Given the description of an element on the screen output the (x, y) to click on. 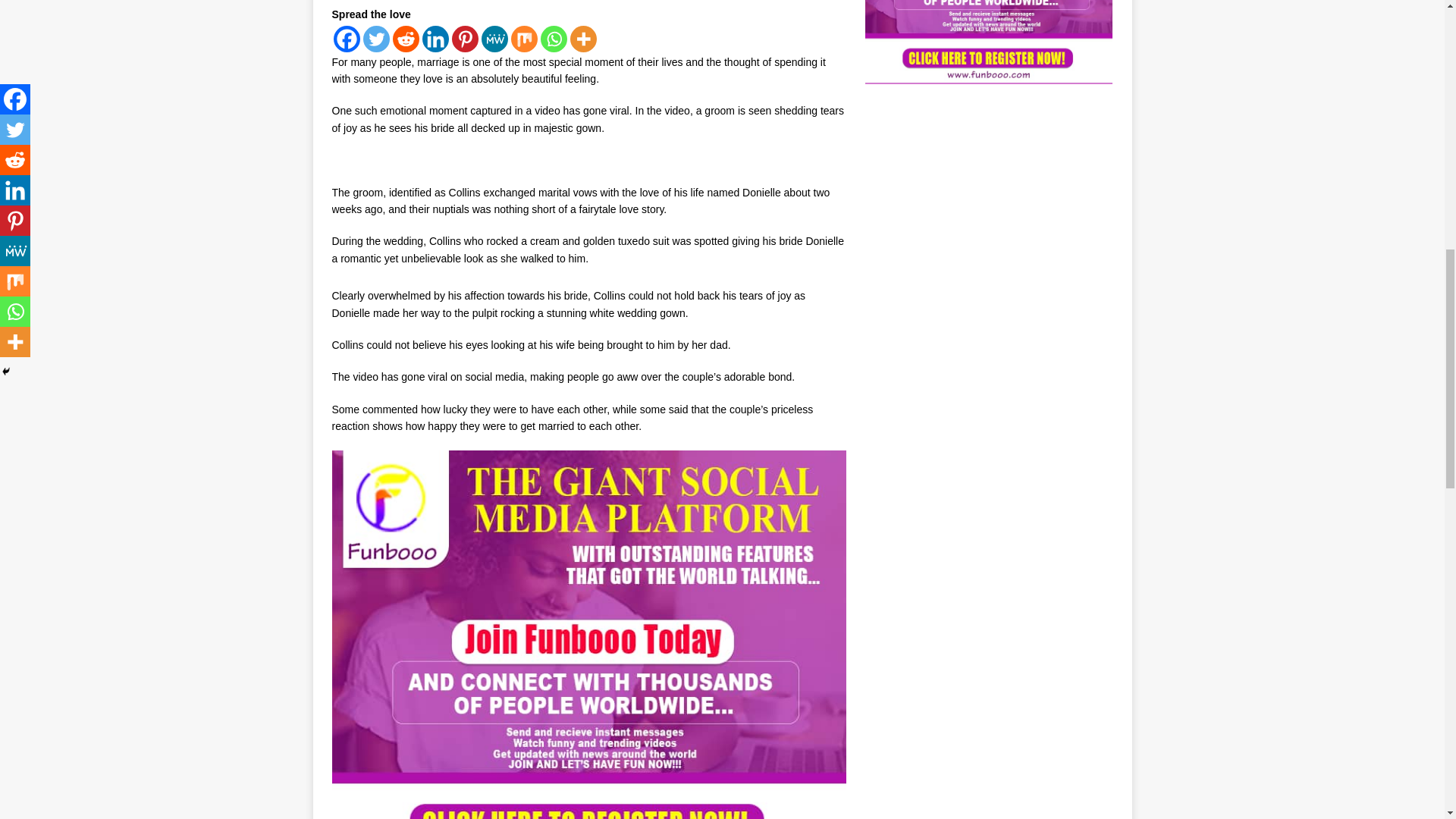
Reddit (406, 38)
MeWe (493, 38)
Facebook (346, 38)
Linkedin (435, 38)
More (583, 38)
Pinterest (465, 38)
Whatsapp (553, 38)
Twitter (375, 38)
Mix (524, 38)
